Given the description of an element on the screen output the (x, y) to click on. 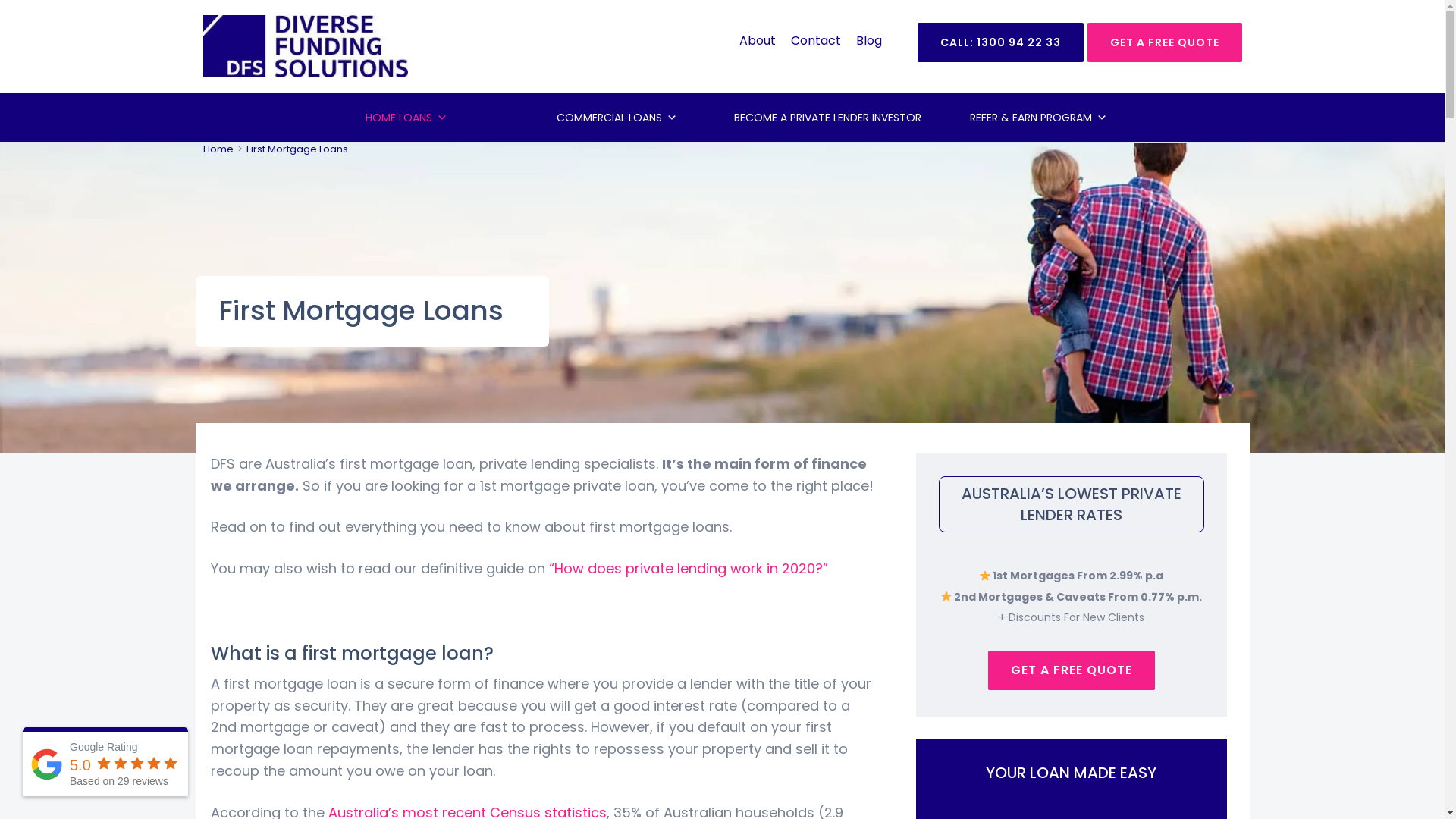
REFER & EARN PROGRAM Element type: text (1037, 117)
GET A FREE QUOTE Element type: text (1164, 42)
COMMERCIAL LOANS Element type: text (616, 117)
Home Element type: text (218, 148)
About Element type: text (756, 40)
Blog Element type: text (868, 40)
BECOME A PRIVATE LENDER INVESTOR Element type: text (826, 117)
CALL: 1300 94 22 33 Element type: text (1000, 42)
Contact Element type: text (815, 40)
GET A FREE QUOTE Element type: text (1070, 670)
HOME LOANS Element type: text (405, 117)
